Given the description of an element on the screen output the (x, y) to click on. 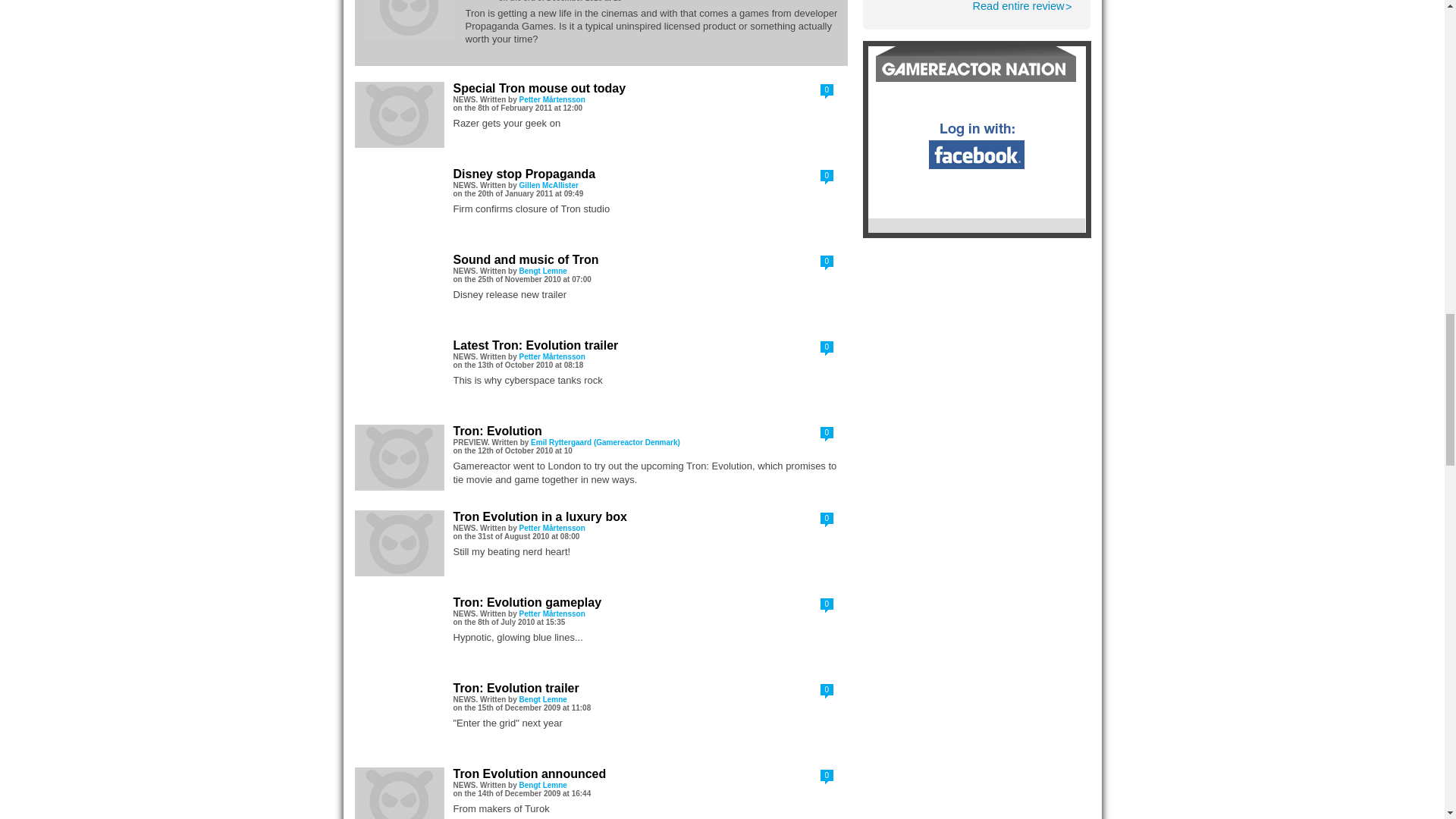
Tron: Evolution (1018, 6)
